Given the description of an element on the screen output the (x, y) to click on. 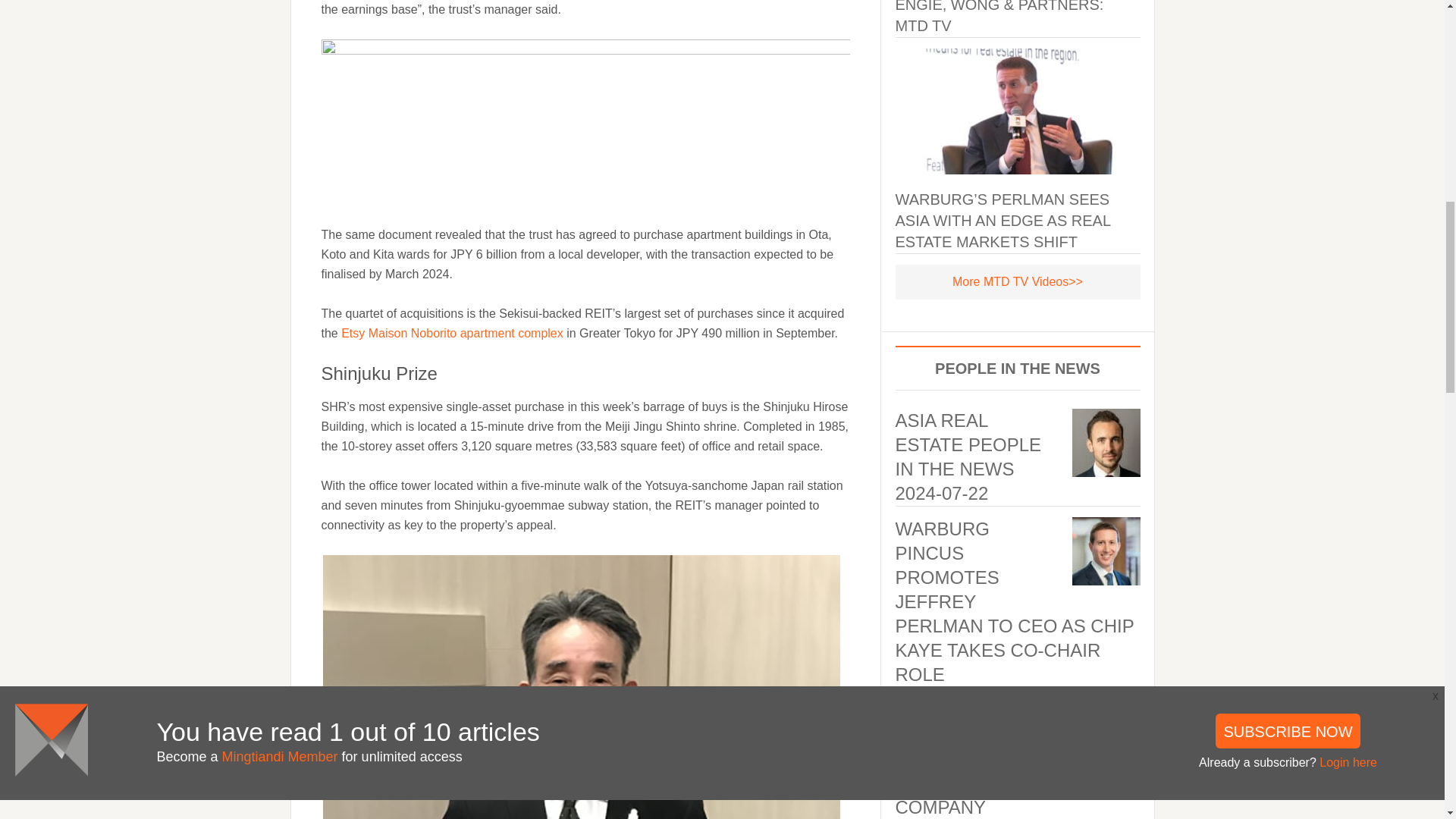
MTD TV Video (1017, 281)
Asia Real Estate People in the News 2024-07-22 (968, 456)
